Given the description of an element on the screen output the (x, y) to click on. 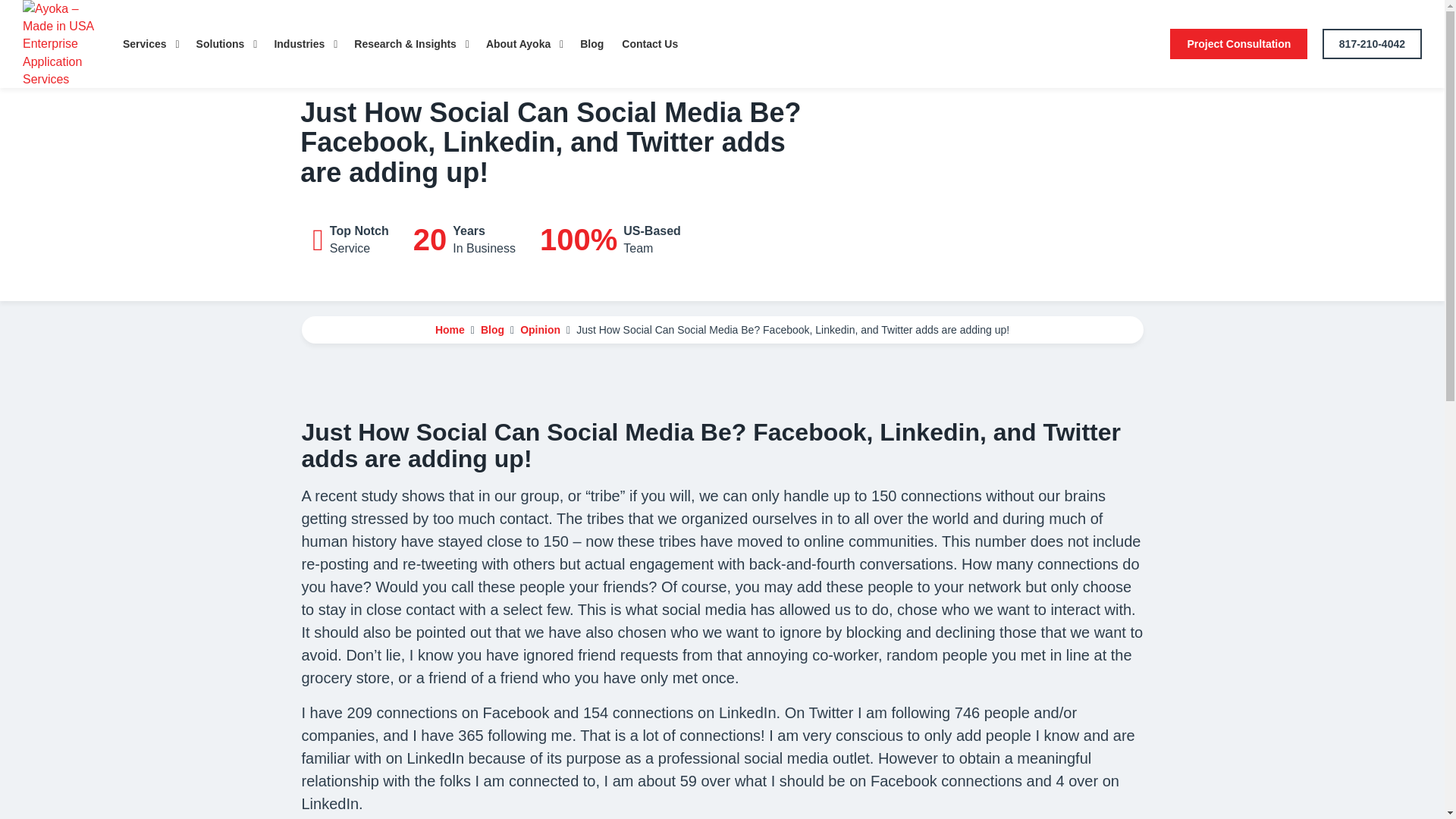
Go to Ayoka - Made in USA Enterprise Application Services. (449, 329)
Go to Blog. (491, 329)
Go to the Opinion category archives. (539, 329)
Services (150, 43)
Solutions (225, 43)
